Given the description of an element on the screen output the (x, y) to click on. 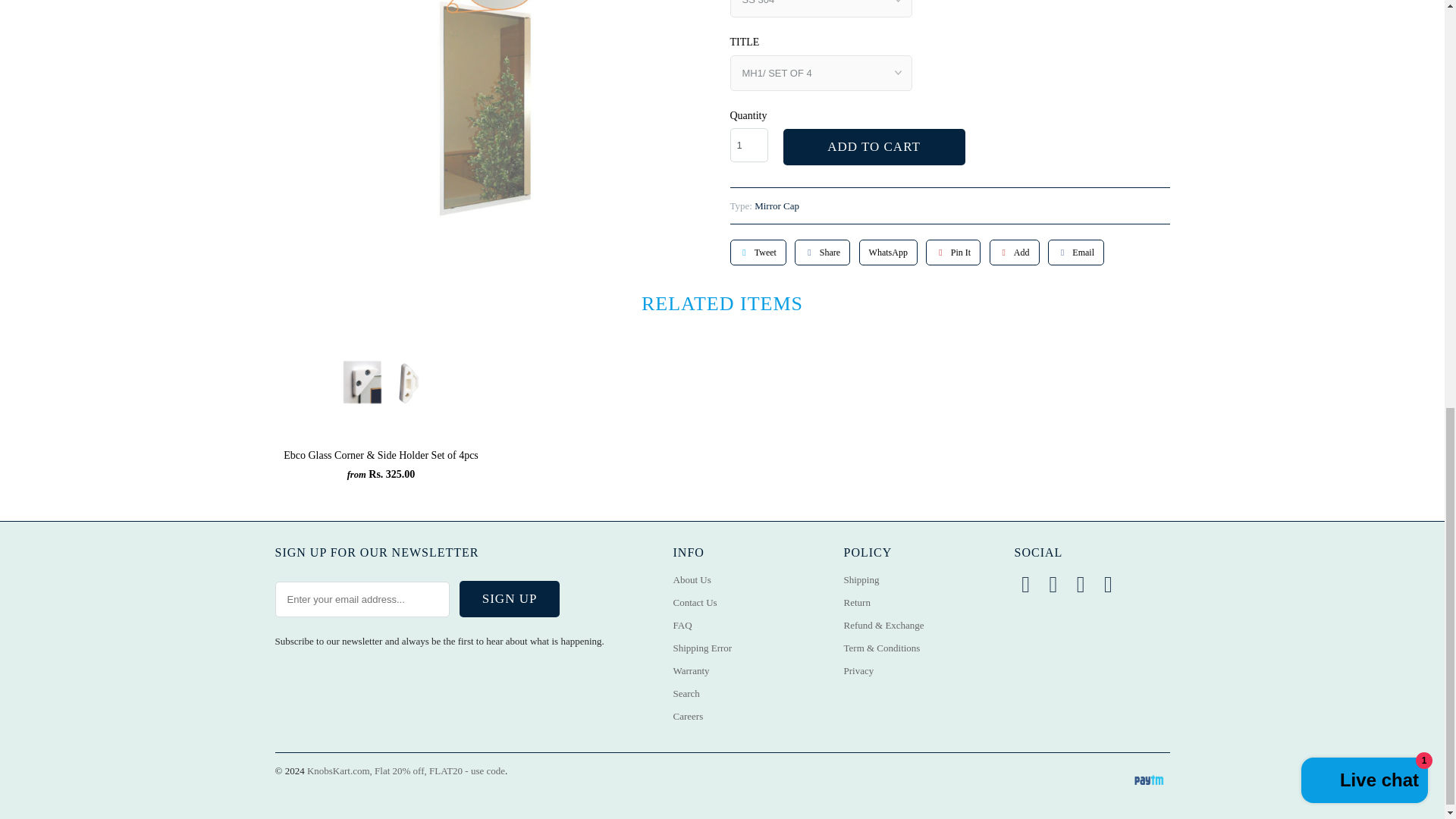
1 (748, 144)
Sign Up (510, 598)
